Given the description of an element on the screen output the (x, y) to click on. 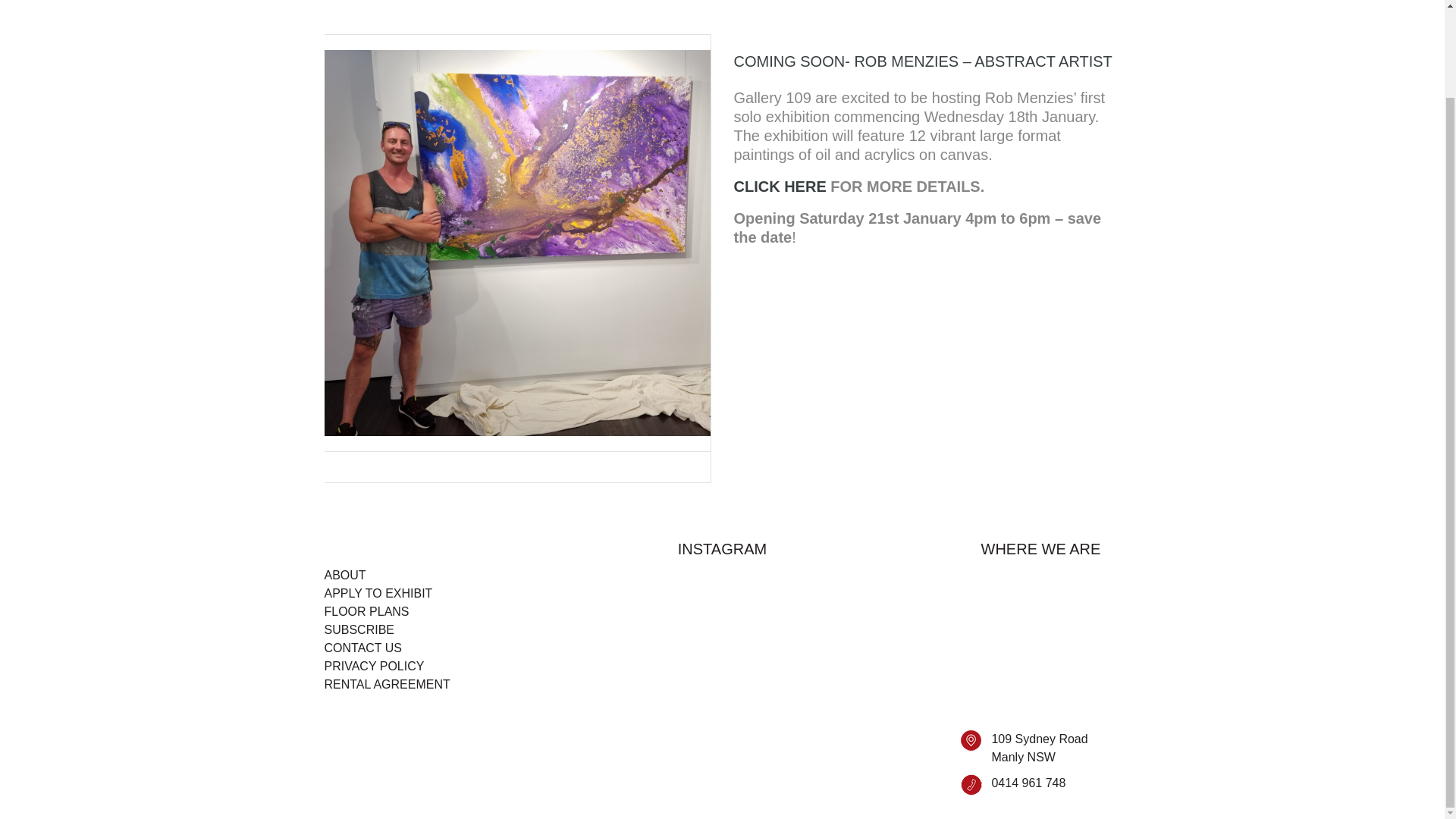
APPLY TO EXHIBIT (378, 593)
CLICK HERE (780, 186)
ABOUT (345, 575)
0414 961 748 (1028, 782)
CONTACT US (363, 648)
FLOOR PLANS (366, 611)
RENTAL AGREEMENT (386, 684)
SUBSCRIBE (359, 629)
PRIVACY POLICY (374, 666)
